Given the description of an element on the screen output the (x, y) to click on. 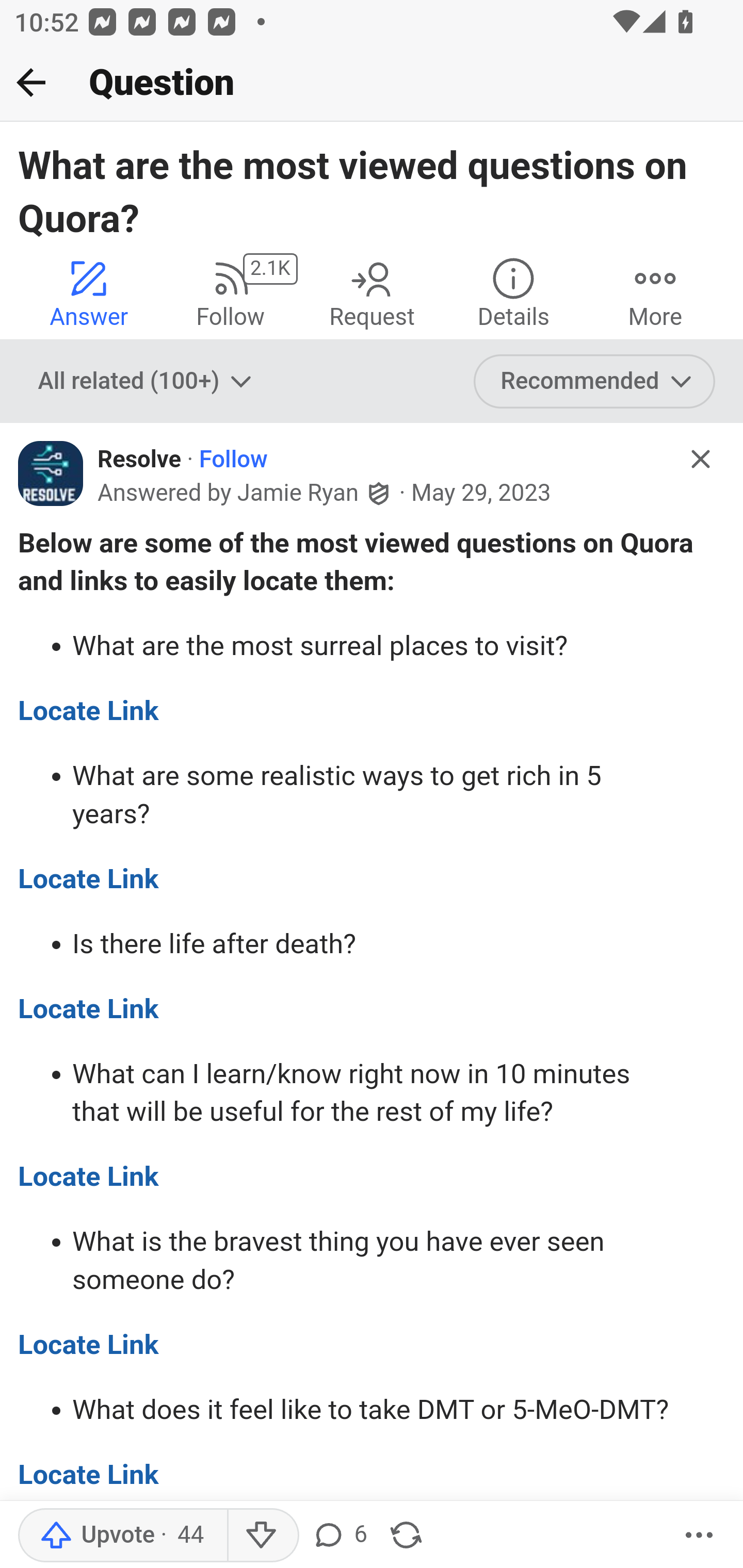
Back Question (371, 82)
Back (30, 82)
Answer (88, 292)
2.1K Follow (230, 292)
Request (371, 292)
Details (513, 292)
More (655, 292)
All related (100+) (146, 381)
Recommended (594, 381)
Hide (700, 459)
Icon for Resolve (50, 473)
Resolve (139, 459)
Follow (233, 459)
Jamie Ryan (297, 493)
May 29, 2023 (480, 493)
Locate Link (88, 710)
Locate Link (88, 878)
Locate Link (88, 1008)
Locate Link (88, 1176)
Locate Link (88, 1344)
Locate Link (88, 1474)
Upvote (122, 1535)
Downvote (262, 1535)
6 comments (338, 1535)
Share (405, 1535)
More (699, 1535)
